Given the description of an element on the screen output the (x, y) to click on. 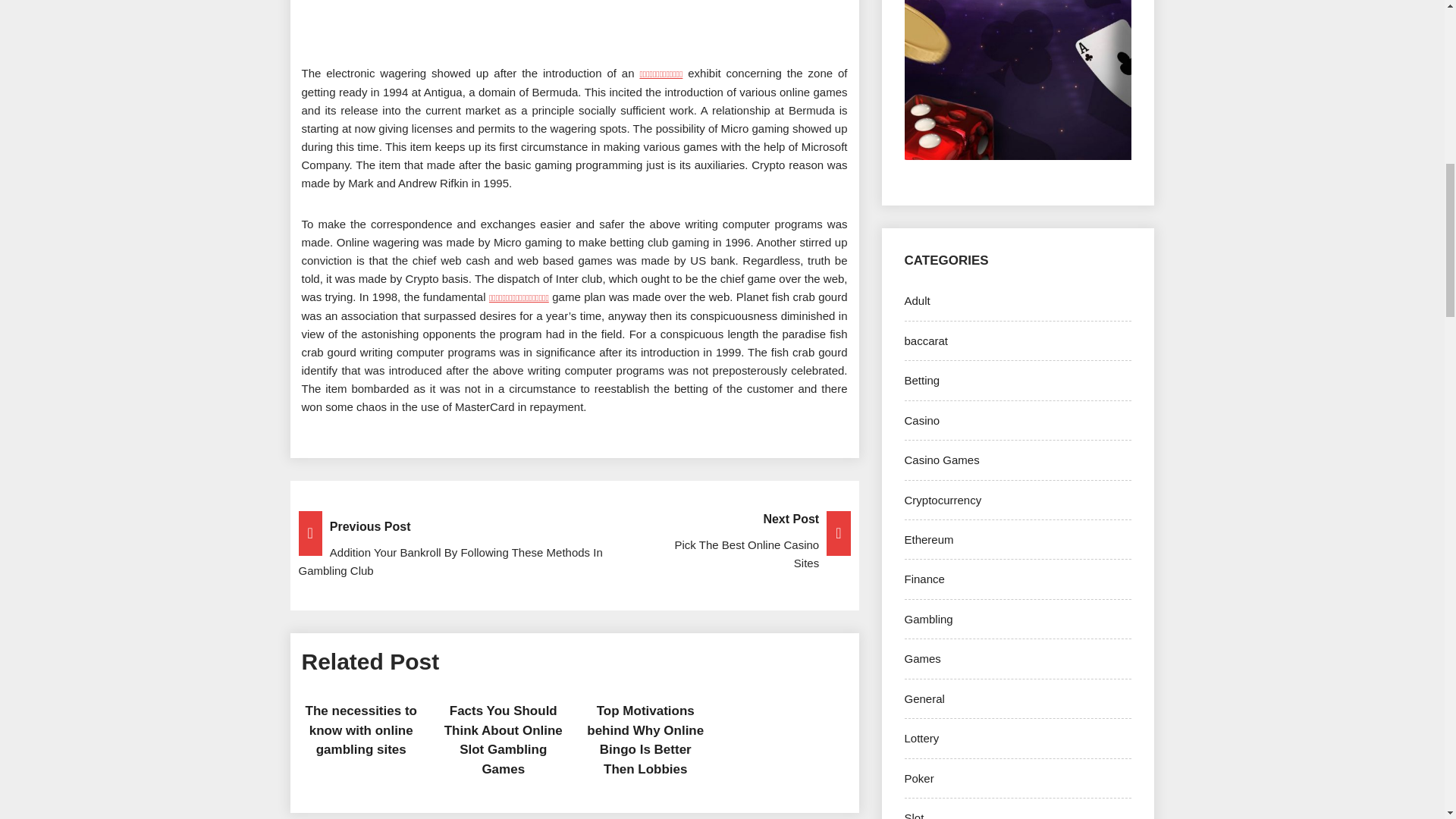
Casino Games (941, 459)
Facts You Should Think About Online Slot Gambling Games (503, 739)
The necessities to know with online gambling sites (360, 729)
baccarat (574, 541)
Games (925, 340)
Casino (922, 658)
Adult (921, 420)
Lottery (917, 300)
General (921, 738)
